Given the description of an element on the screen output the (x, y) to click on. 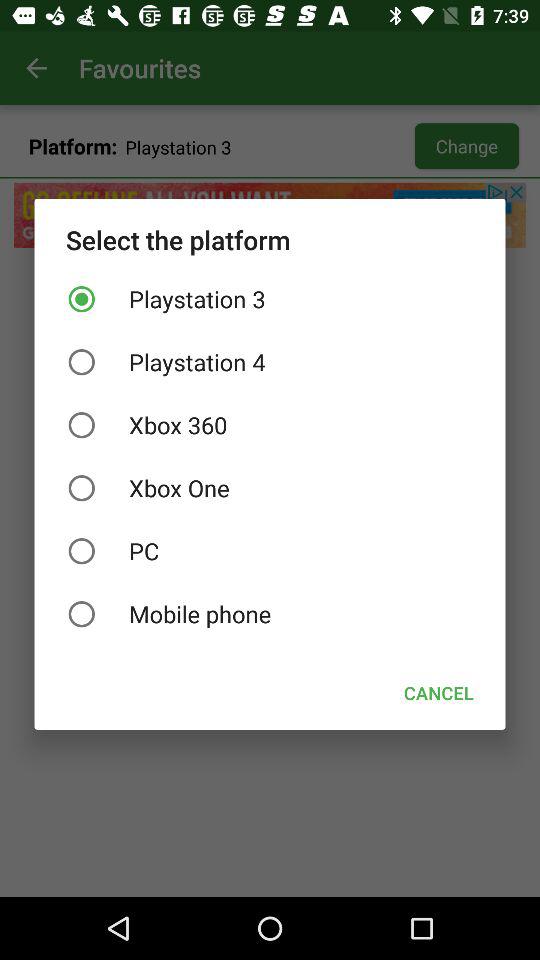
jump to cancel (438, 692)
